Given the description of an element on the screen output the (x, y) to click on. 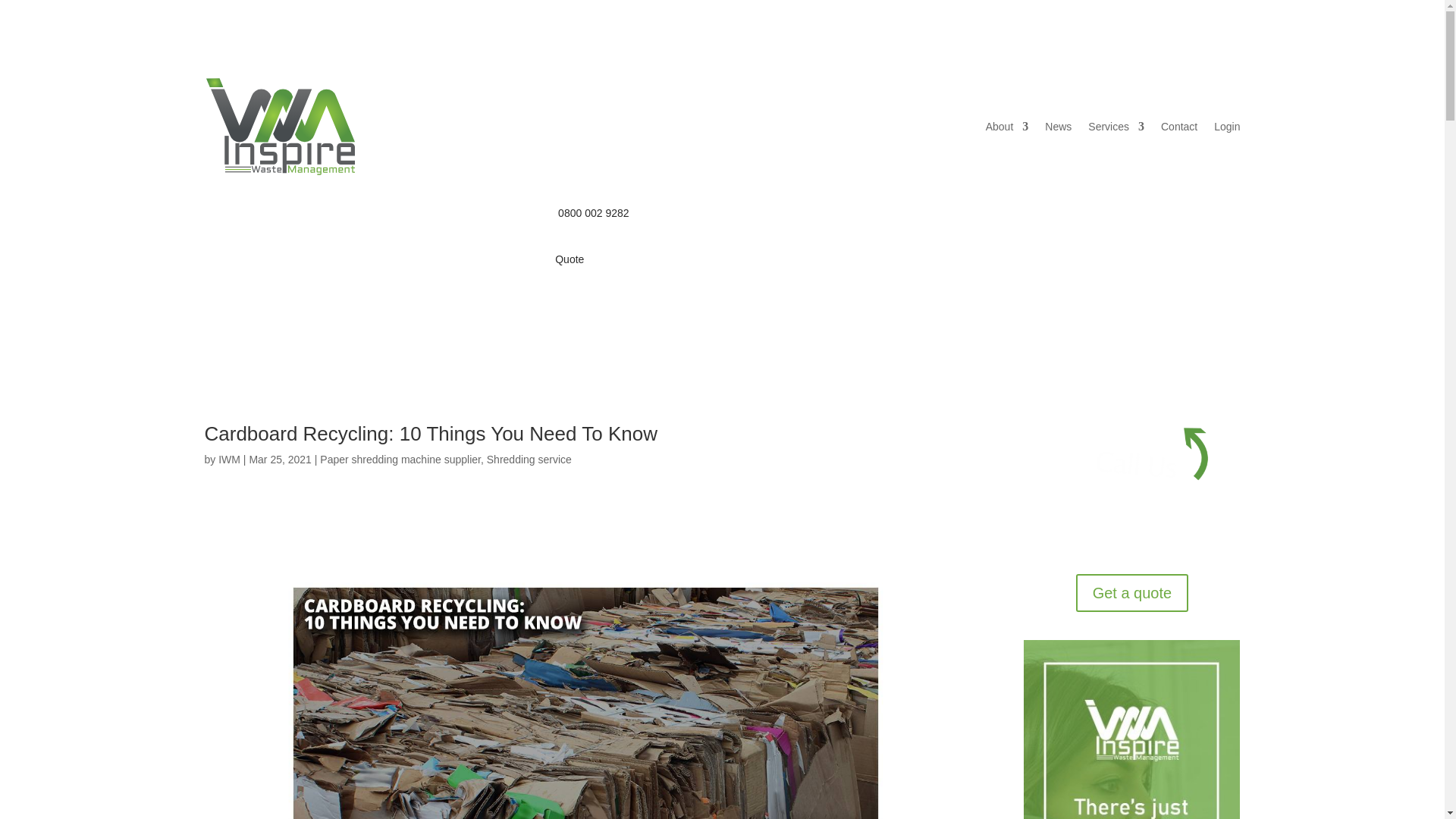
Posts by IWM (229, 459)
Shredding service (529, 459)
Paper shredding machine supplier (400, 459)
sidebanner2 (1131, 729)
IWM (229, 459)
Call Us Now (1131, 484)
